Given the description of an element on the screen output the (x, y) to click on. 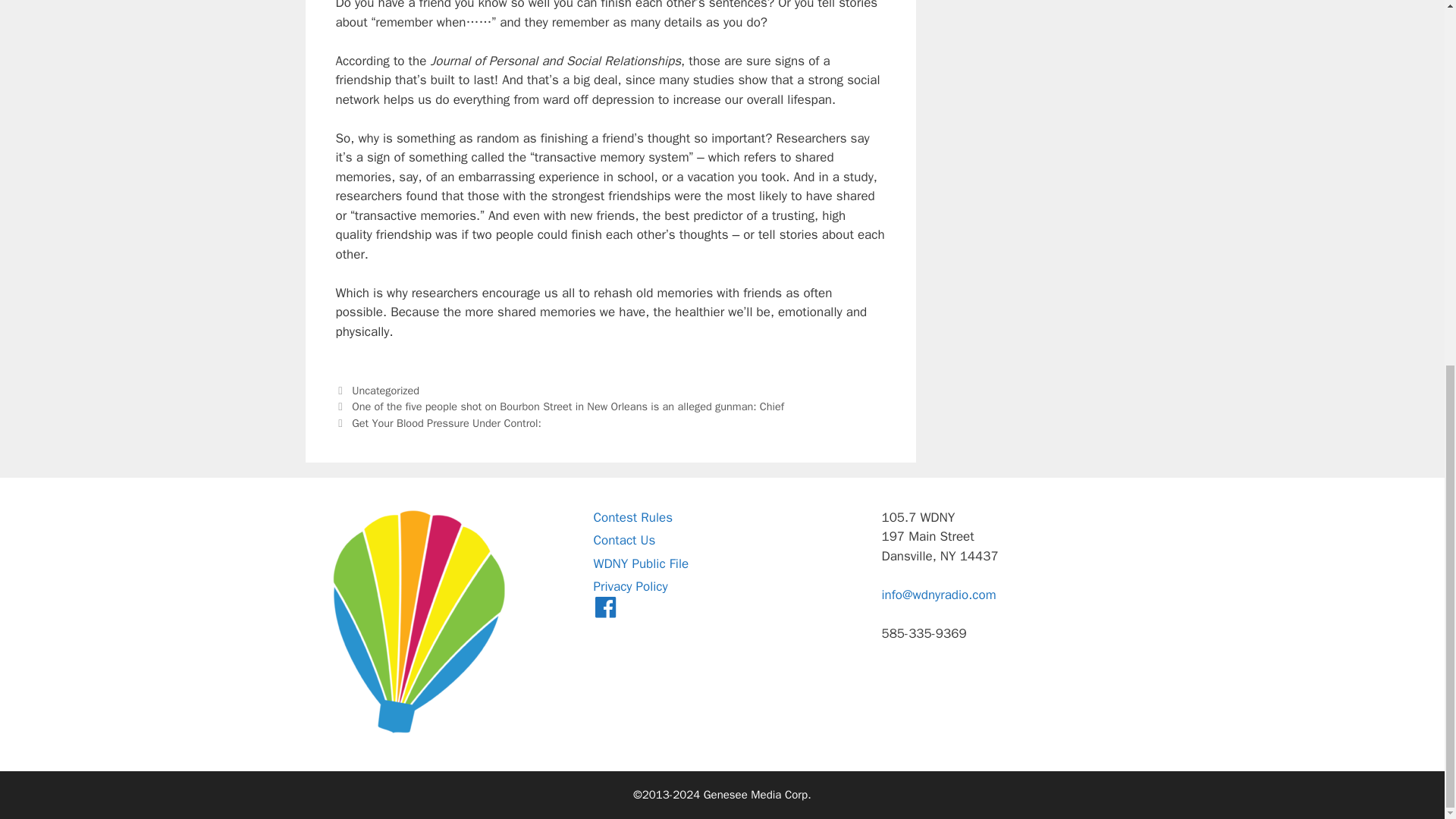
Get Your Blood Pressure Under Control: (446, 422)
Contact Us (623, 539)
Privacy Policy (629, 586)
Contest Rules (632, 517)
WDNY Public File (640, 563)
Menu Item (605, 609)
Uncategorized (385, 390)
